Given the description of an element on the screen output the (x, y) to click on. 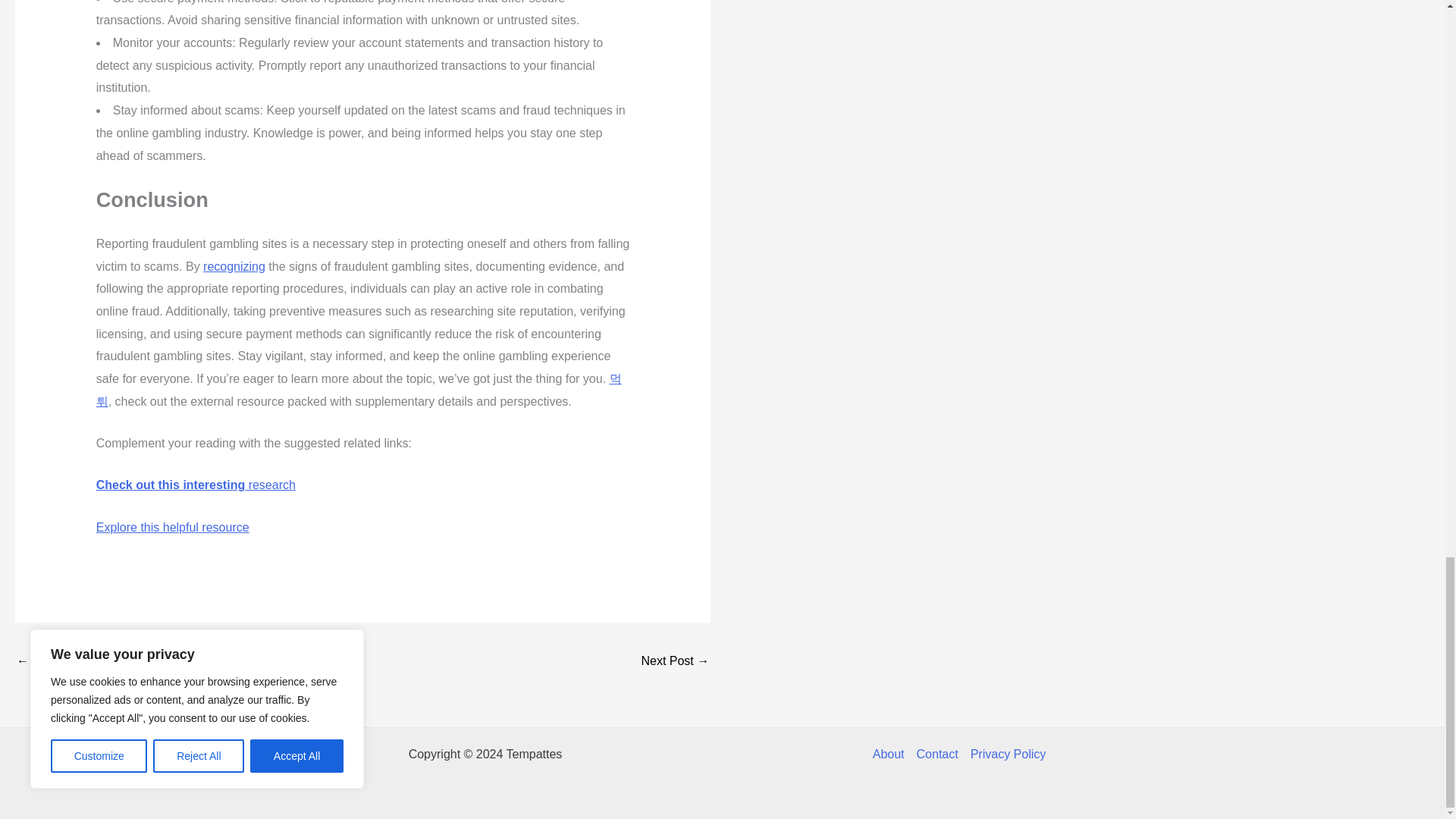
Expert Analysis on the Real Estate Market in Jurong East (674, 662)
Explore this helpful resource (172, 526)
recognizing (233, 266)
The Power of Data Analysis in Sports Prediction (61, 662)
Check out this interesting research (195, 484)
